Given the description of an element on the screen output the (x, y) to click on. 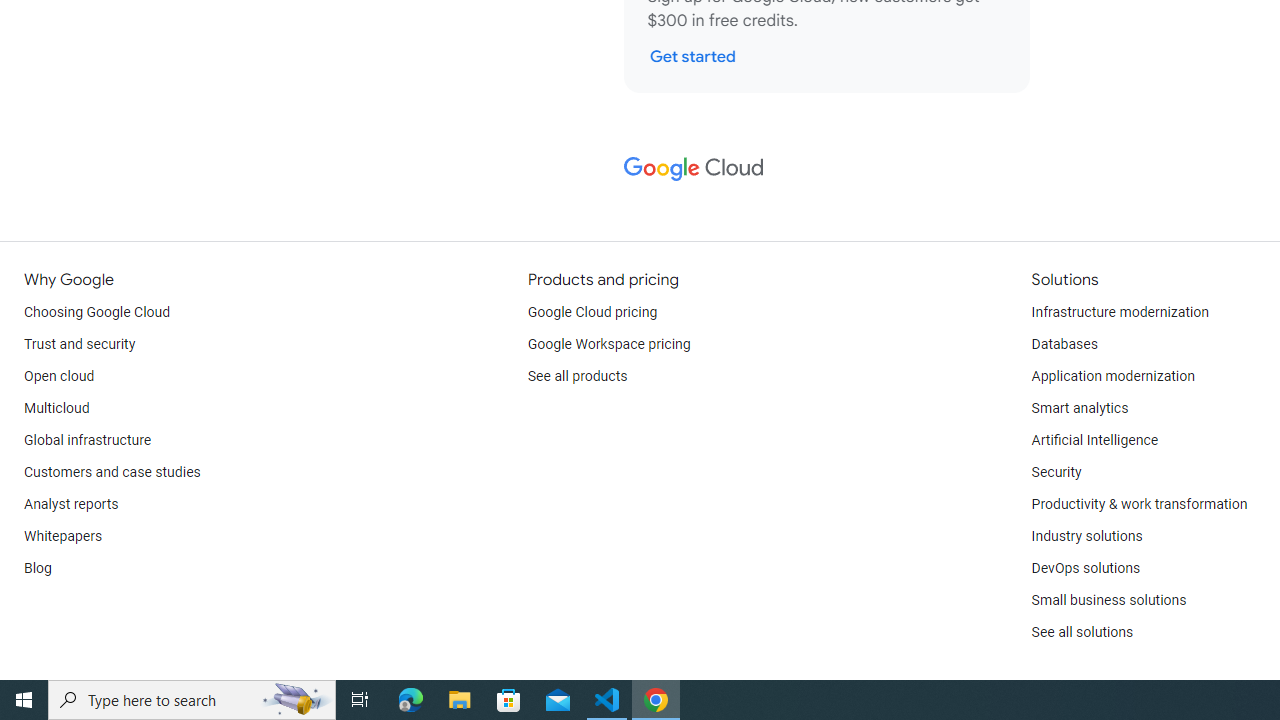
Global infrastructure (88, 440)
Google Workspace pricing (609, 344)
Industry solutions (1086, 536)
Customers and case studies (112, 472)
Artificial Intelligence (1094, 440)
Trust and security (79, 344)
Productivity & work transformation (1139, 504)
Get started (692, 56)
See all solutions (1082, 632)
Choosing Google Cloud (97, 312)
Google Cloud pricing (592, 312)
Infrastructure modernization (1119, 312)
See all products (577, 376)
